Given the description of an element on the screen output the (x, y) to click on. 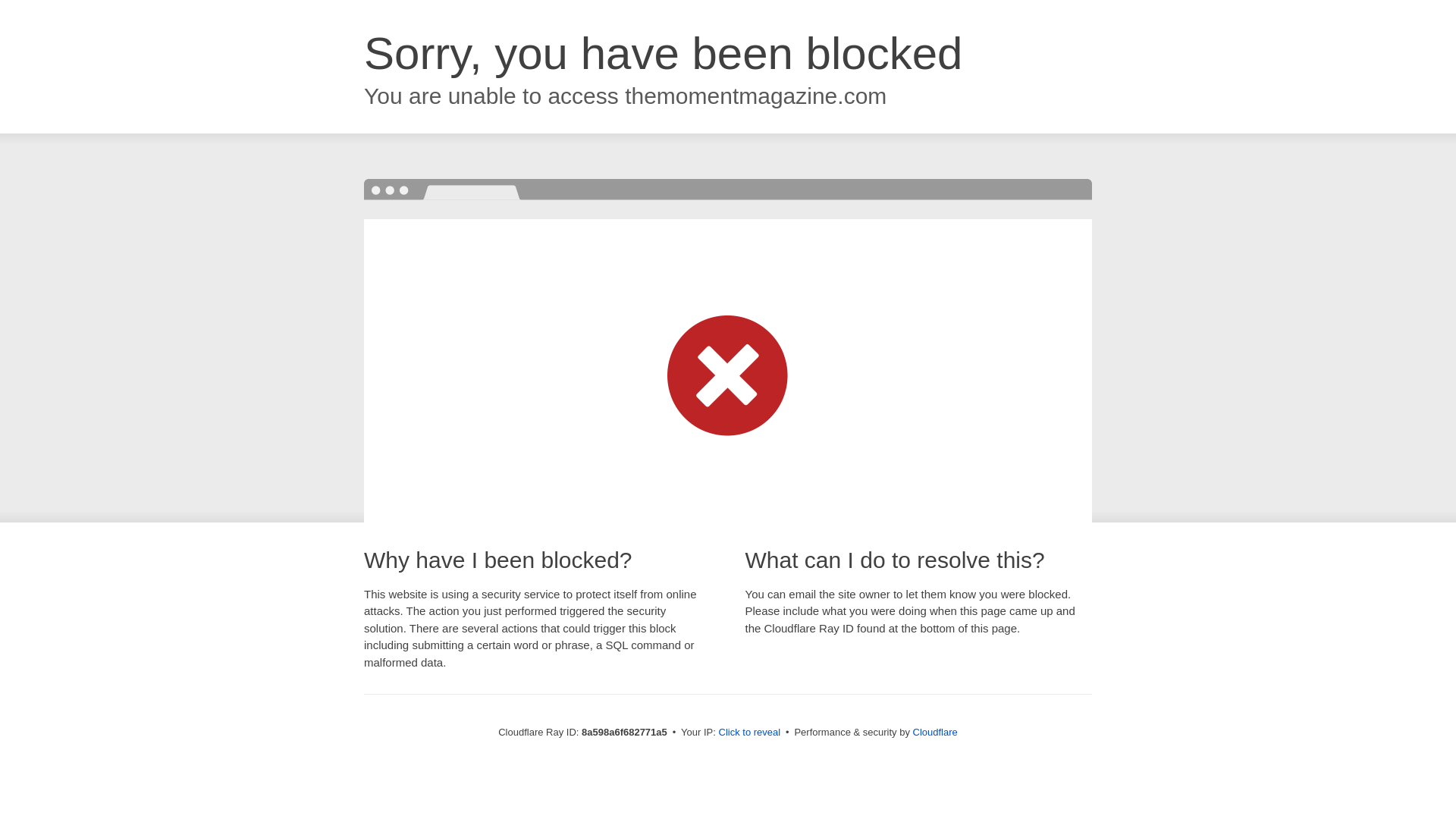
Cloudflare (935, 731)
Click to reveal (749, 732)
